Given the description of an element on the screen output the (x, y) to click on. 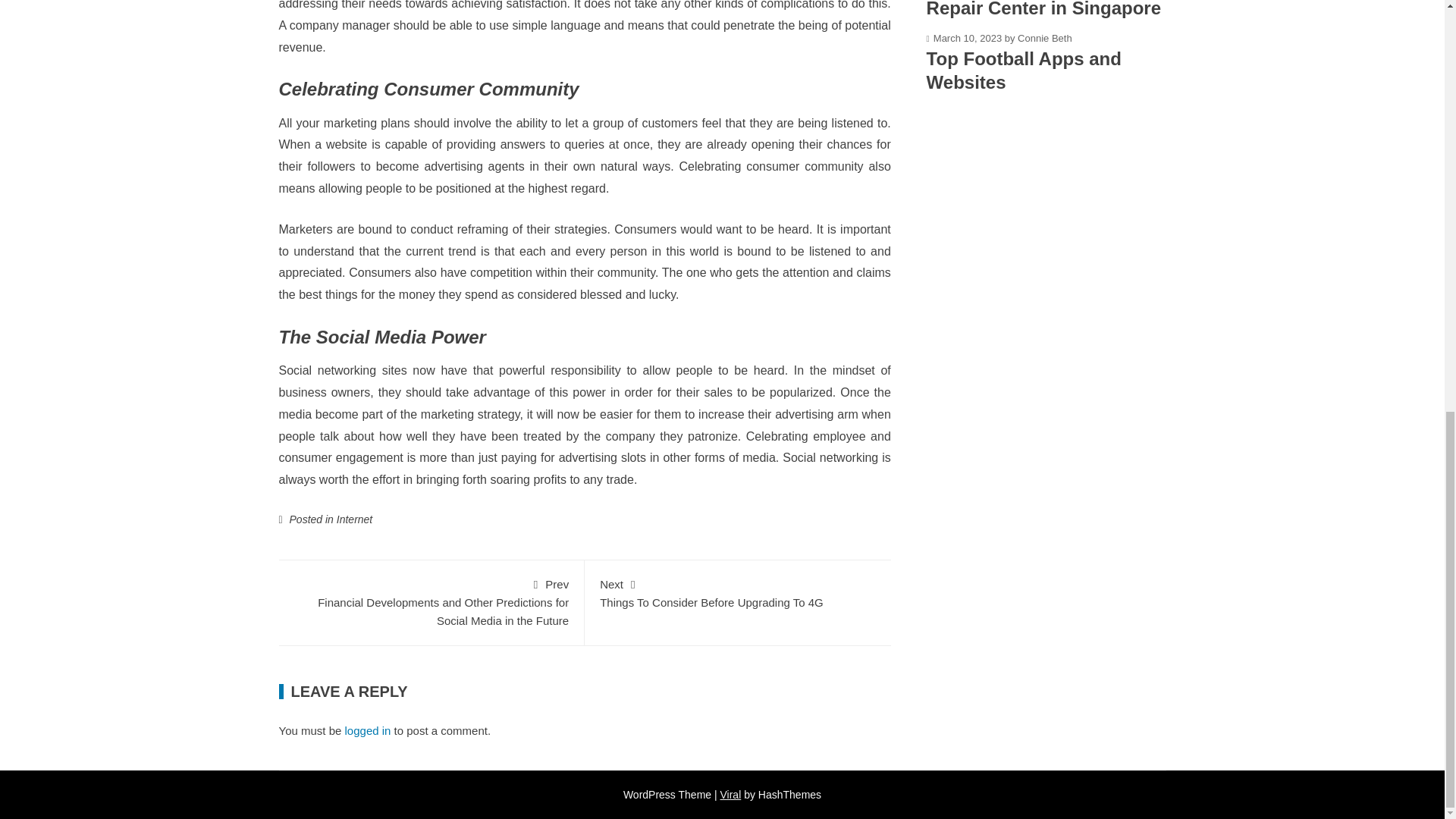
logged in (368, 730)
Internet (354, 519)
Viral (730, 794)
Most Reliable iPhone X Repair Center in Singapore (1043, 9)
Top Football Apps and Websites (1023, 70)
Download Viral (737, 592)
